Given the description of an element on the screen output the (x, y) to click on. 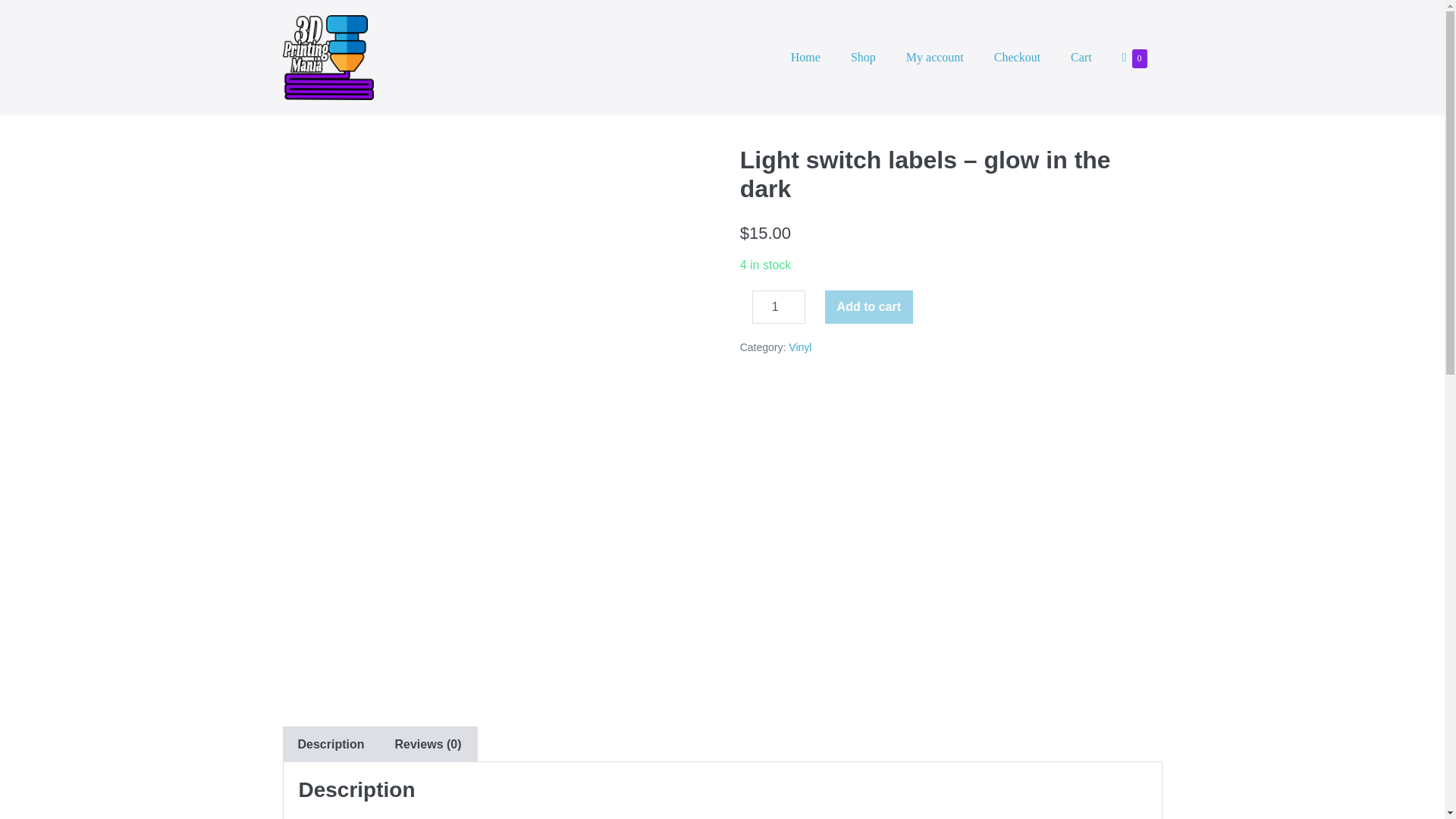
3D Printing Mania (327, 57)
Shopping Cart (1133, 57)
Home (1133, 57)
Increase quantity (805, 57)
Description (1016, 57)
Add to cart (330, 744)
1 (868, 306)
Shop (778, 306)
